Given the description of an element on the screen output the (x, y) to click on. 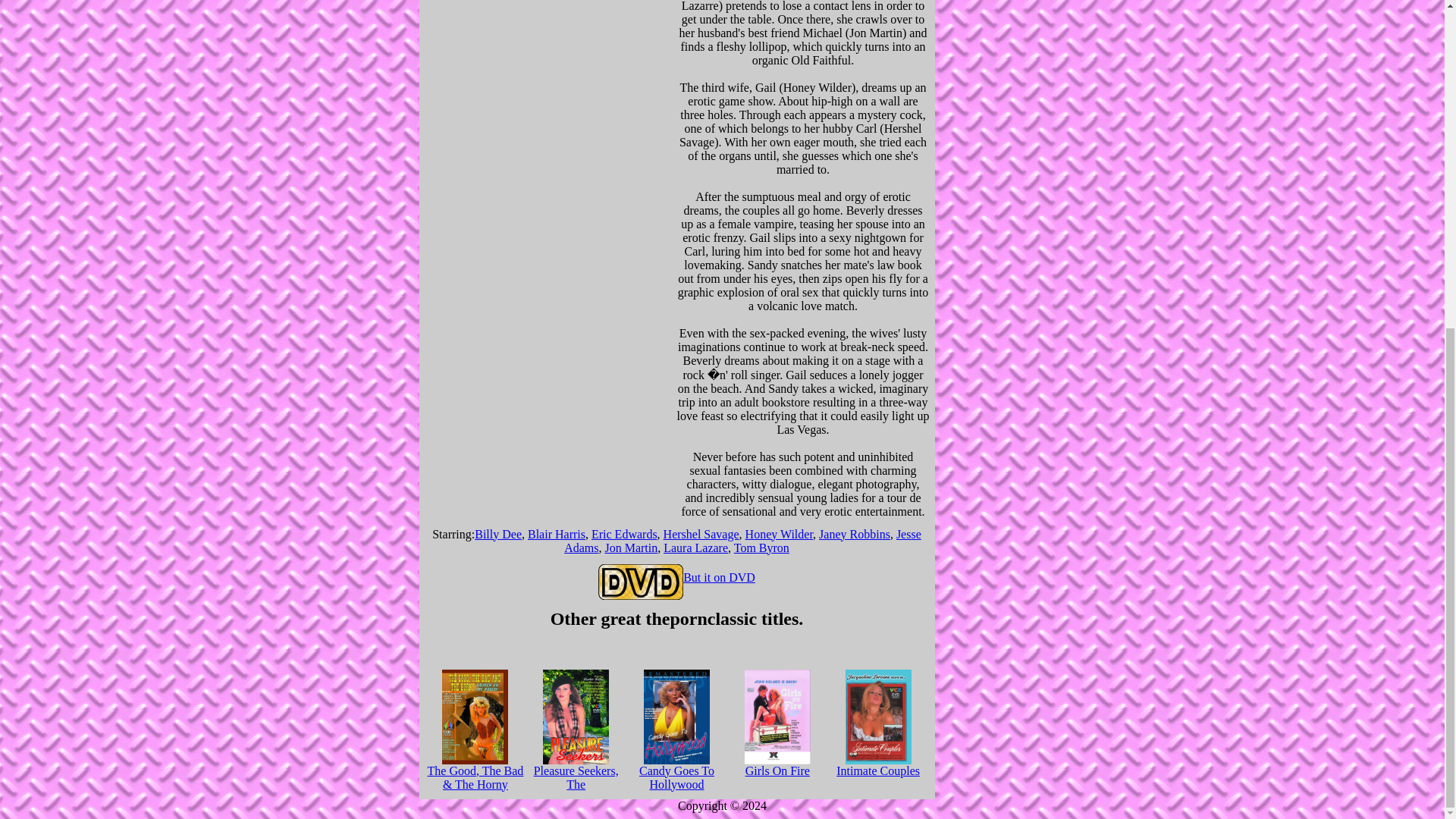
Honey Wilder (779, 533)
Blair Harris (556, 533)
Eric Edwards (624, 533)
Billy Dee (497, 533)
Hershel Savage (701, 533)
Jesse Adams (742, 540)
Laura Lazare (695, 547)
Tom Byron (761, 547)
Janey Robbins (853, 533)
Jon Martin (631, 547)
